Given the description of an element on the screen output the (x, y) to click on. 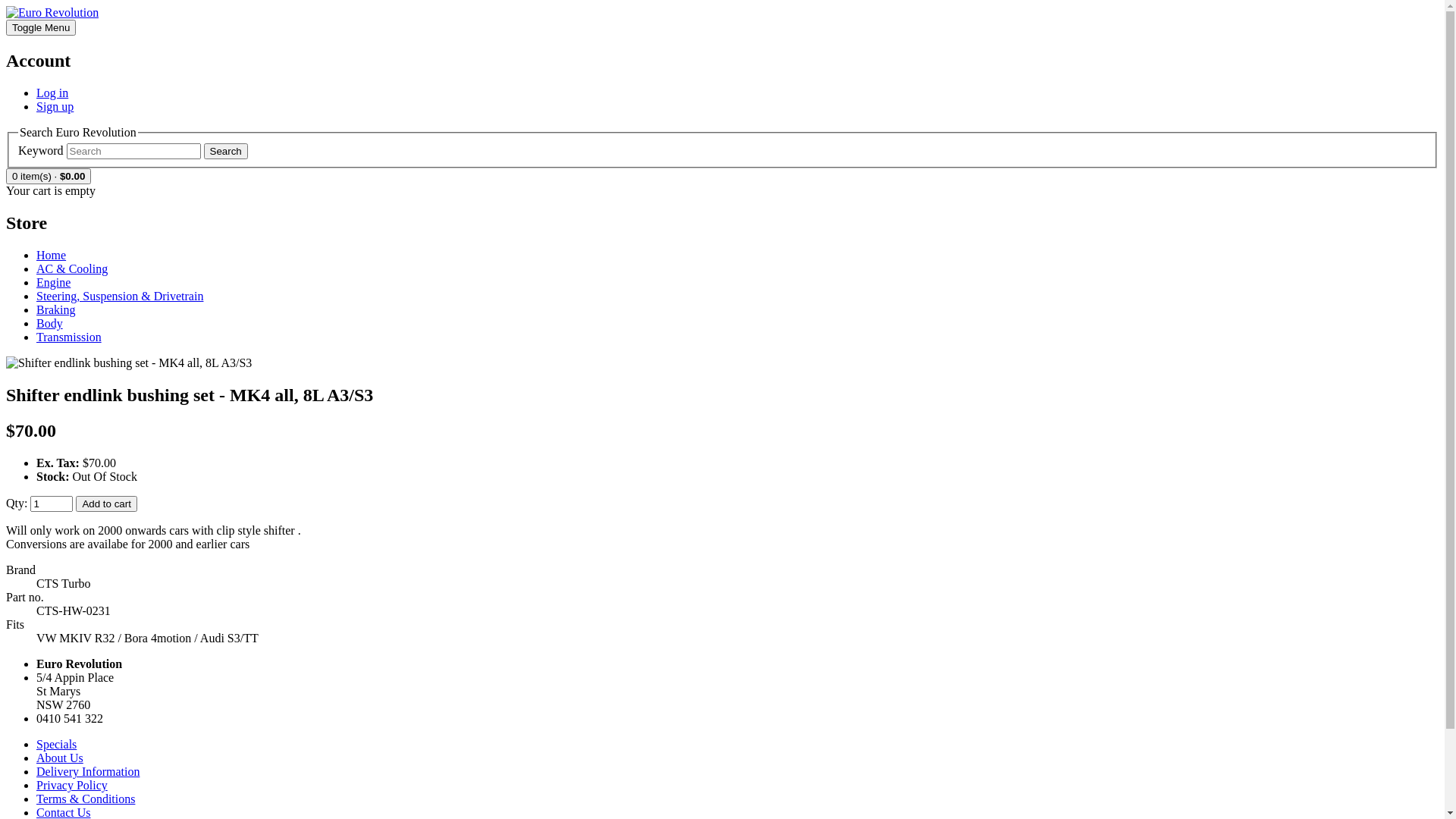
Home Element type: text (50, 254)
AC & Cooling Element type: text (71, 268)
Sign up Element type: text (54, 106)
Add to cart Element type: text (105, 503)
Search Element type: text (225, 151)
Steering, Suspension & Drivetrain Element type: text (119, 295)
Toggle Menu Element type: text (40, 27)
About Us Element type: text (59, 757)
Transmission Element type: text (68, 336)
Log in Element type: text (52, 92)
Euro Revolution Element type: hover (52, 12)
Delivery Information Element type: text (87, 771)
Body Element type: text (49, 322)
Terms & Conditions Element type: text (85, 798)
Specials Element type: text (56, 743)
Engine Element type: text (53, 282)
Braking Element type: text (55, 309)
Privacy Policy Element type: text (71, 784)
